Given the description of an element on the screen output the (x, y) to click on. 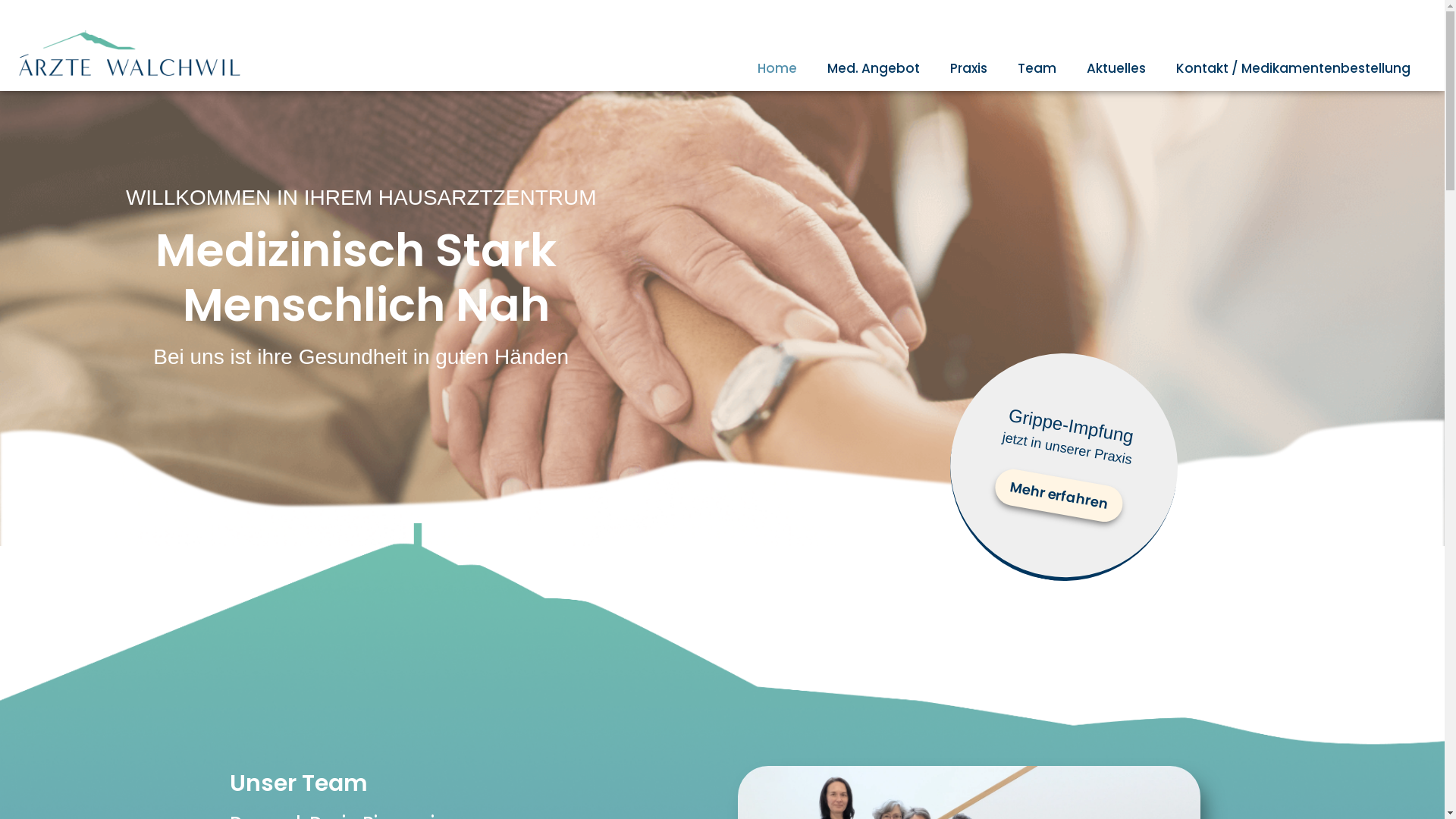
Aktuelles Element type: text (1116, 67)
Praxis Element type: text (968, 67)
Med. Angebot Element type: text (873, 67)
Team Element type: text (1036, 67)
Mehr erfahren Element type: text (1055, 484)
Kontakt / Medikamentenbestellung Element type: text (1293, 67)
Home Element type: text (777, 67)
